Given the description of an element on the screen output the (x, y) to click on. 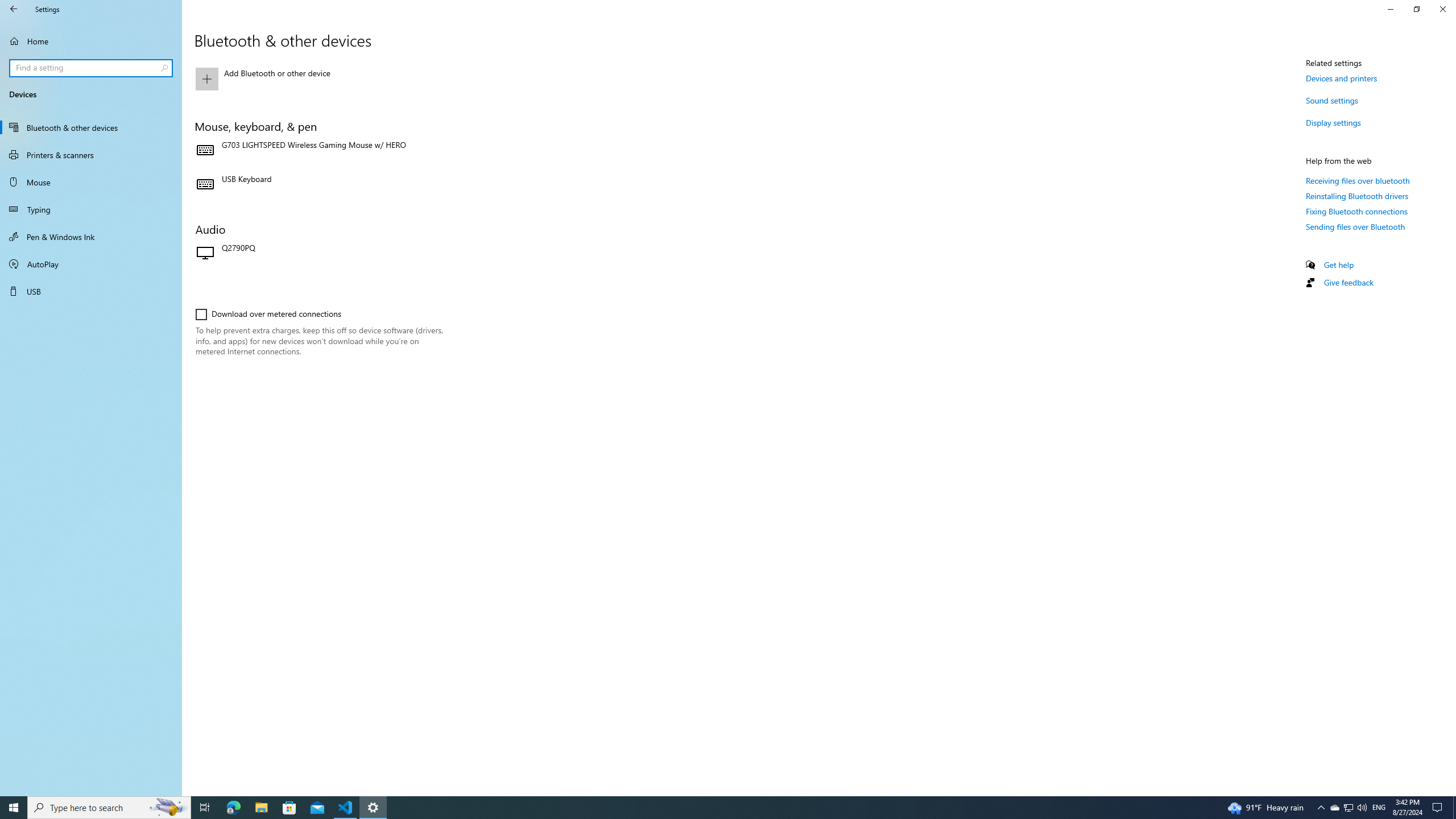
Search box, Find a setting (91, 67)
Printers & scanners (91, 154)
AutoPlay (91, 263)
Close Settings (1442, 9)
USB (91, 290)
Minimize Settings (1390, 9)
Add Bluetooth or other device (319, 78)
Display settings (1333, 122)
